Given the description of an element on the screen output the (x, y) to click on. 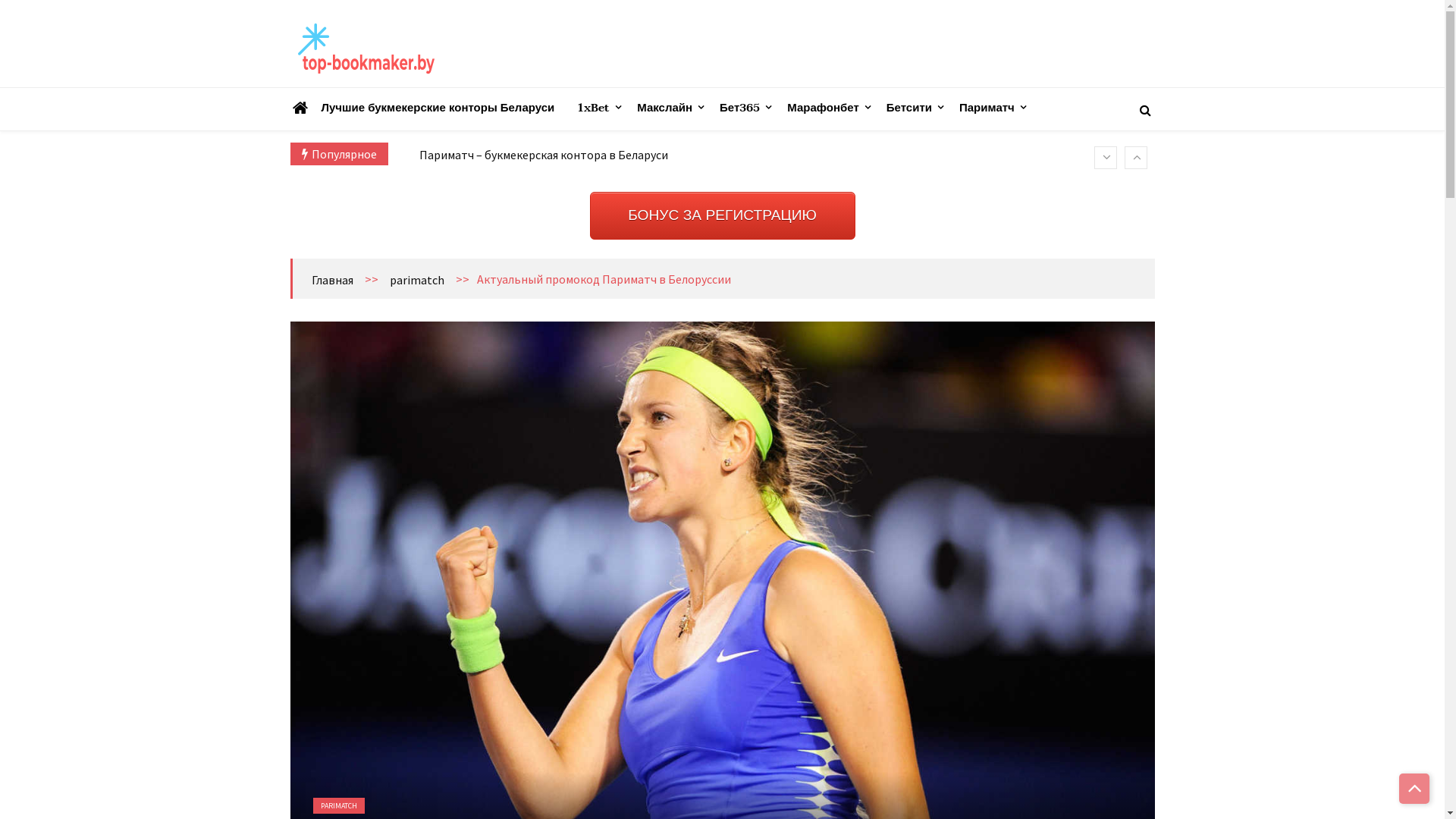
https://top-bookmaker.by/ Element type: text (383, 90)
PARIMATCH Element type: text (338, 805)
1xBet Element type: text (593, 107)
parimatch Element type: text (416, 279)
